Given the description of an element on the screen output the (x, y) to click on. 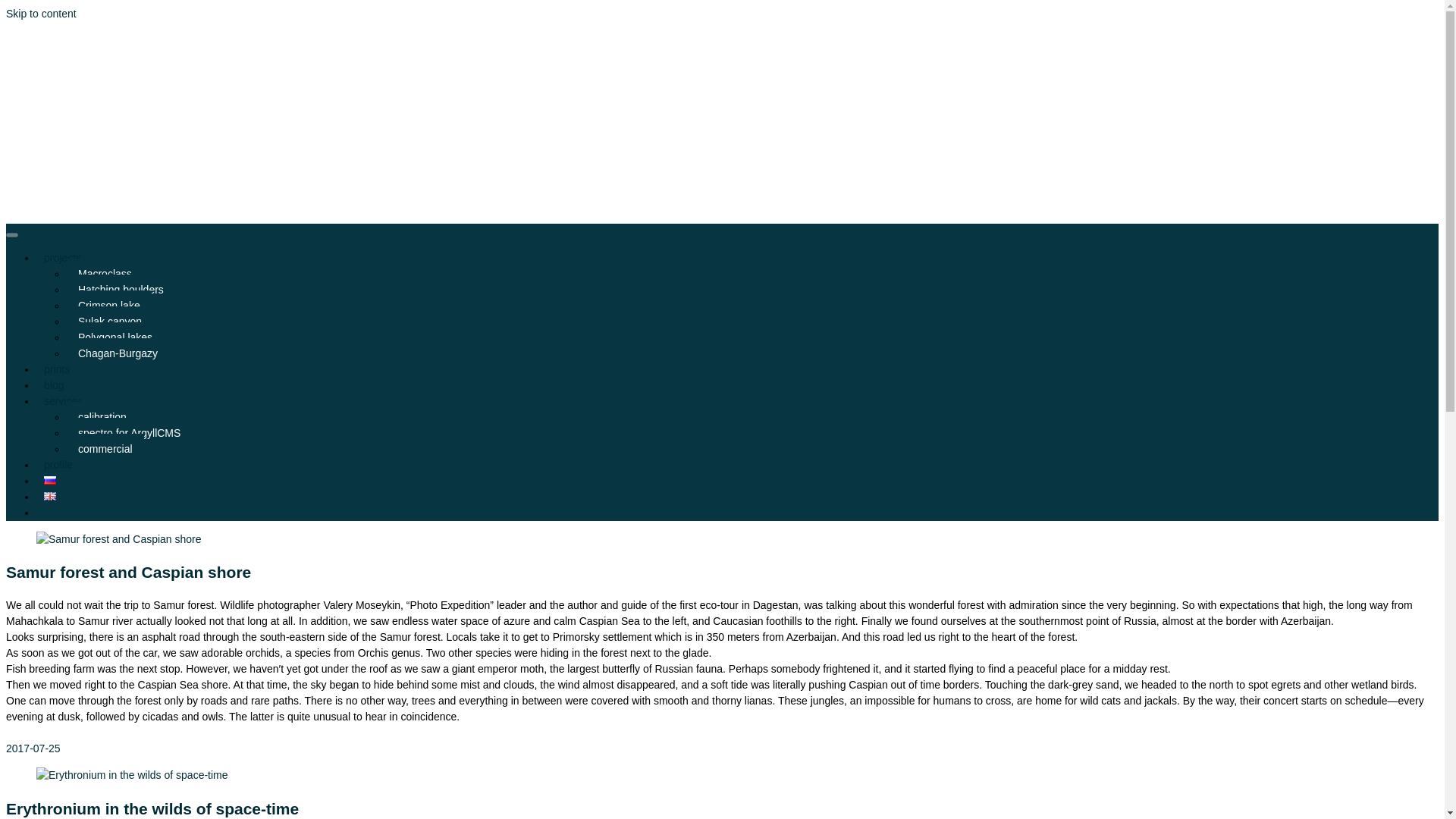
spectro for ArgyllCMS (129, 432)
Erythronium in the wilds of space-time (132, 775)
14:16 (33, 748)
Erythronium in the wilds of space-time (132, 774)
Skip to content (41, 13)
Samur forest and Caspian shore (127, 571)
profile (58, 464)
2017-07-25 (33, 748)
projects (62, 257)
Crimson lake (108, 305)
Erythronium in the wilds of space-time (151, 808)
Samur forest and Caspian shore (119, 539)
Chagan-Burgazy (117, 353)
Sulak canyon (109, 321)
Gregory (56, 68)
